Given the description of an element on the screen output the (x, y) to click on. 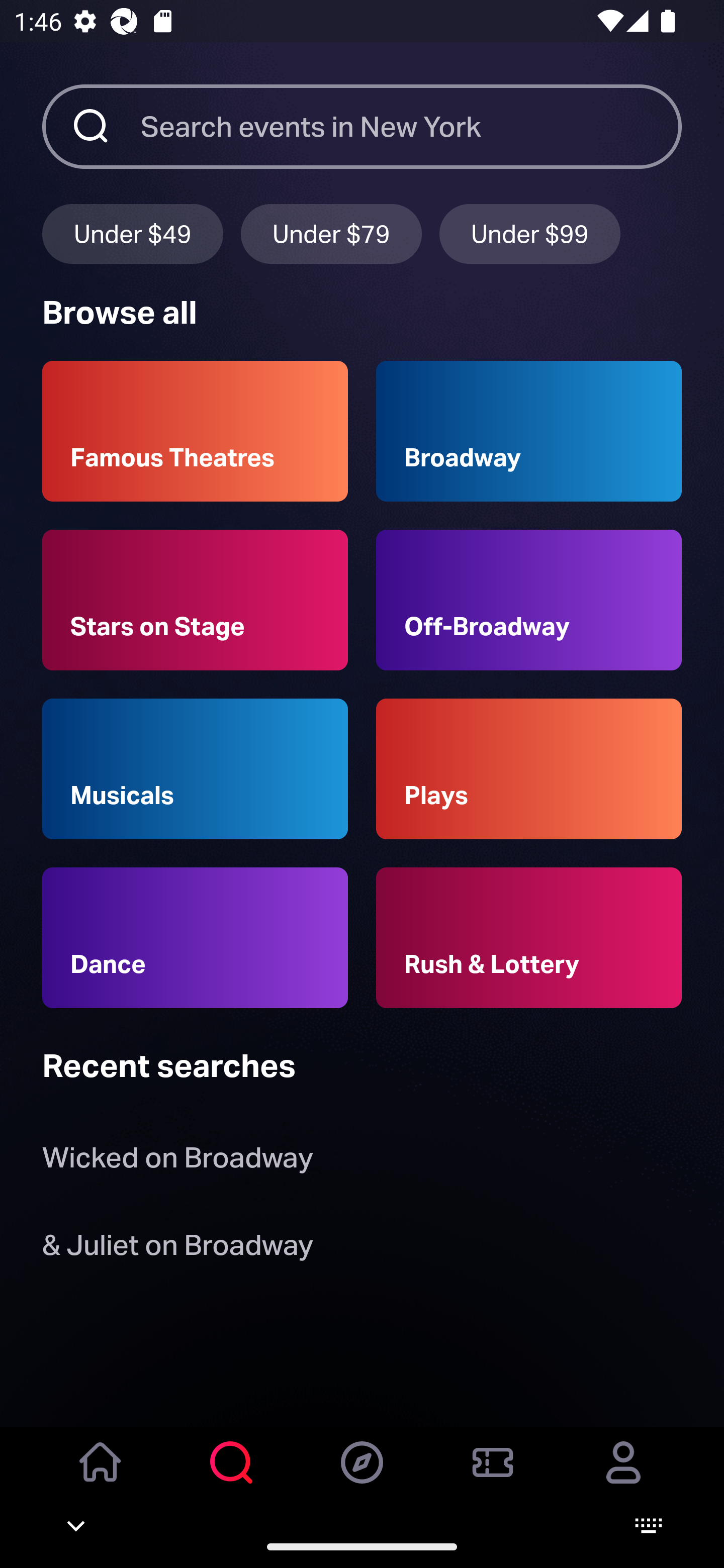
Search events in New York (411, 126)
Under $49 (131, 233)
Under $79 (331, 233)
Under $99 (529, 233)
Famous Theatres (194, 430)
Broadway (528, 430)
Stars on Stage (194, 600)
Off-Broadway (528, 600)
Musicals (194, 768)
Plays (528, 768)
Dance (194, 937)
Rush & Lottery (528, 937)
Wicked on Broadway (177, 1161)
& Juliet on Broadway  (180, 1248)
Home (100, 1475)
Discover (361, 1475)
Orders (492, 1475)
Account (623, 1475)
